Given the description of an element on the screen output the (x, y) to click on. 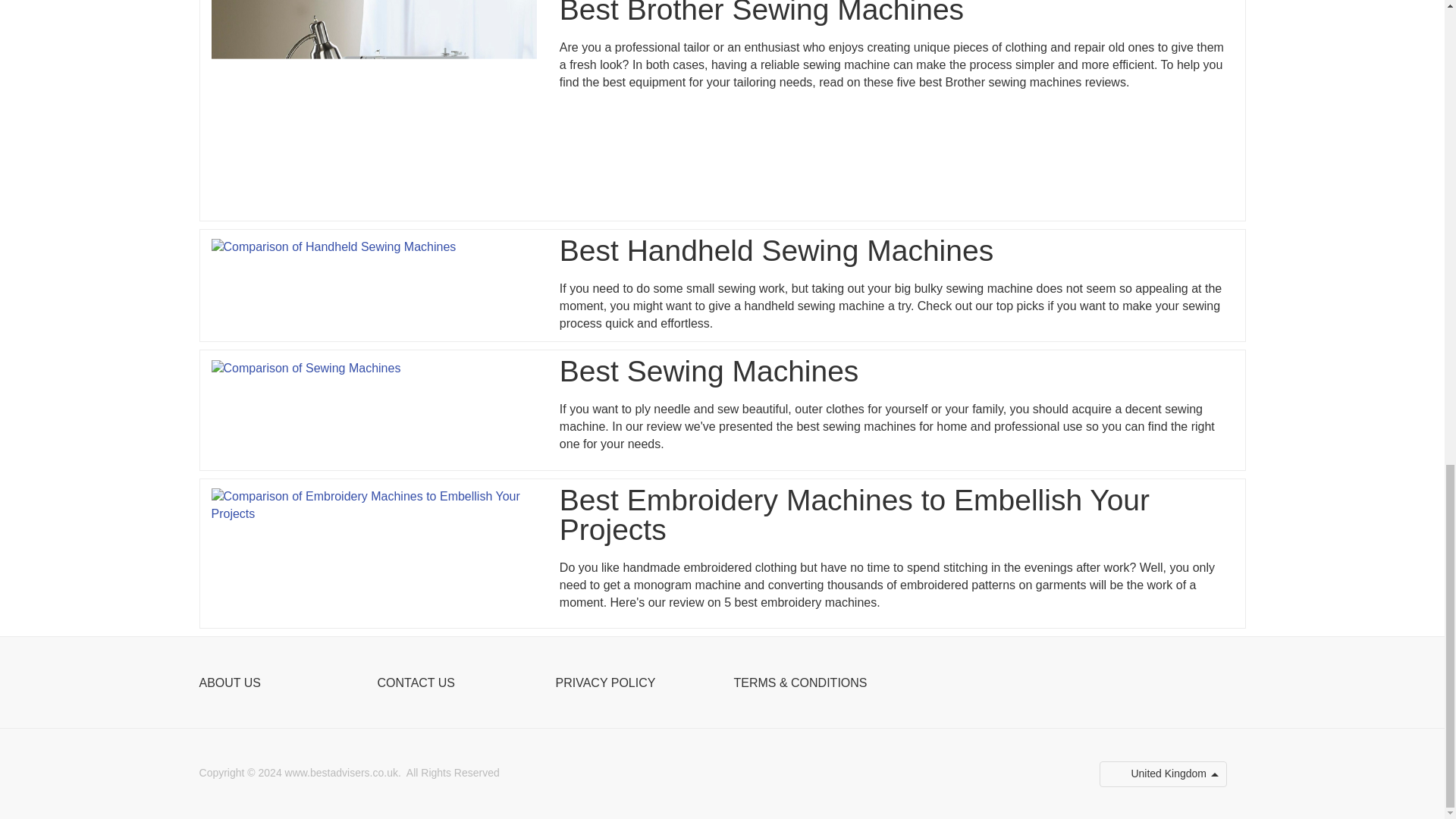
Comparison of Sewing Machines - Bestadvisor (305, 368)
Comparison of Handheld Sewing Machines - Bestadvisor (333, 247)
Comparison of Brother Sewing Machines - Bestadvisor (373, 105)
